Given the description of an element on the screen output the (x, y) to click on. 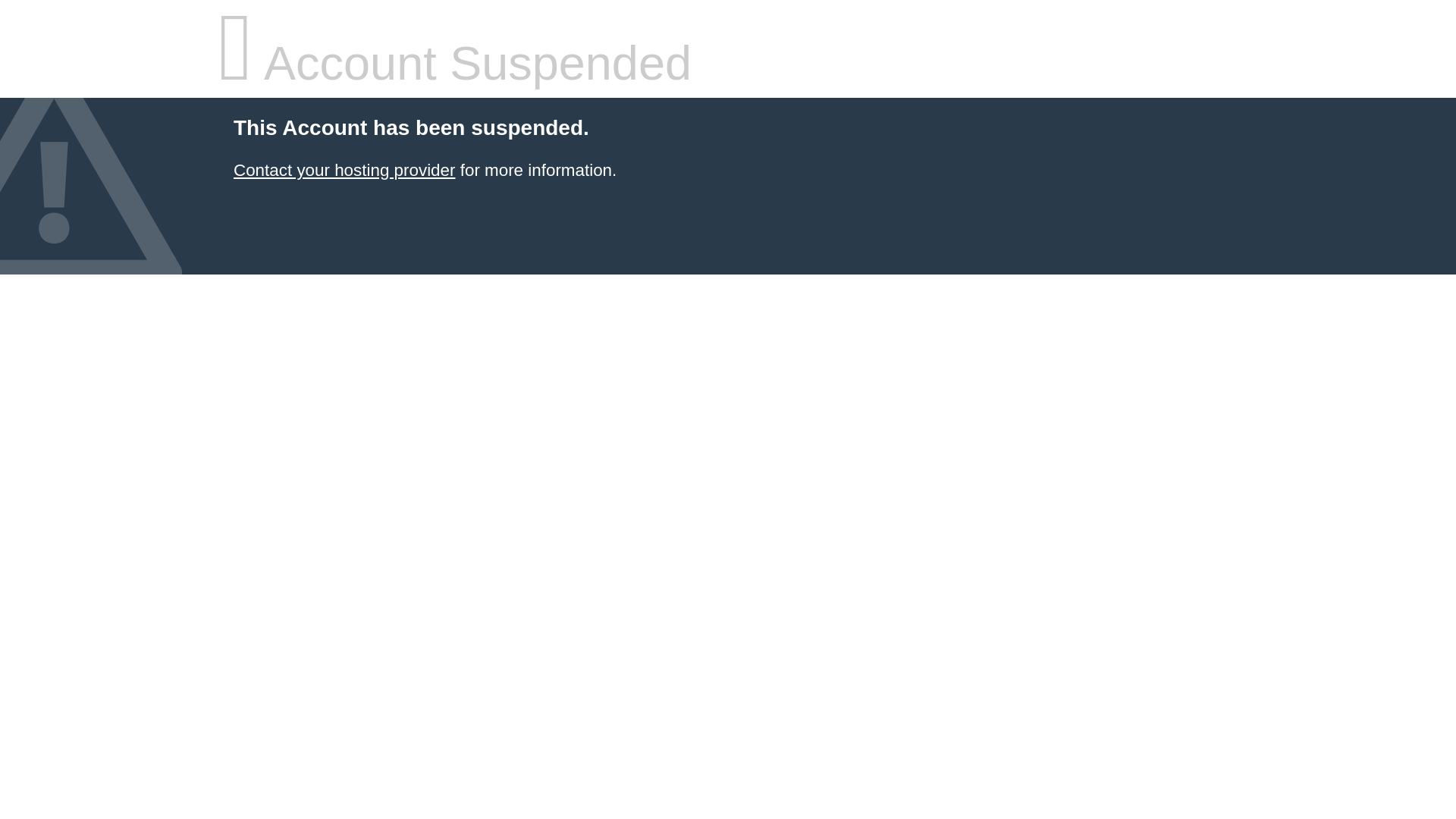
Contact your hosting provider (343, 169)
